Given the description of an element on the screen output the (x, y) to click on. 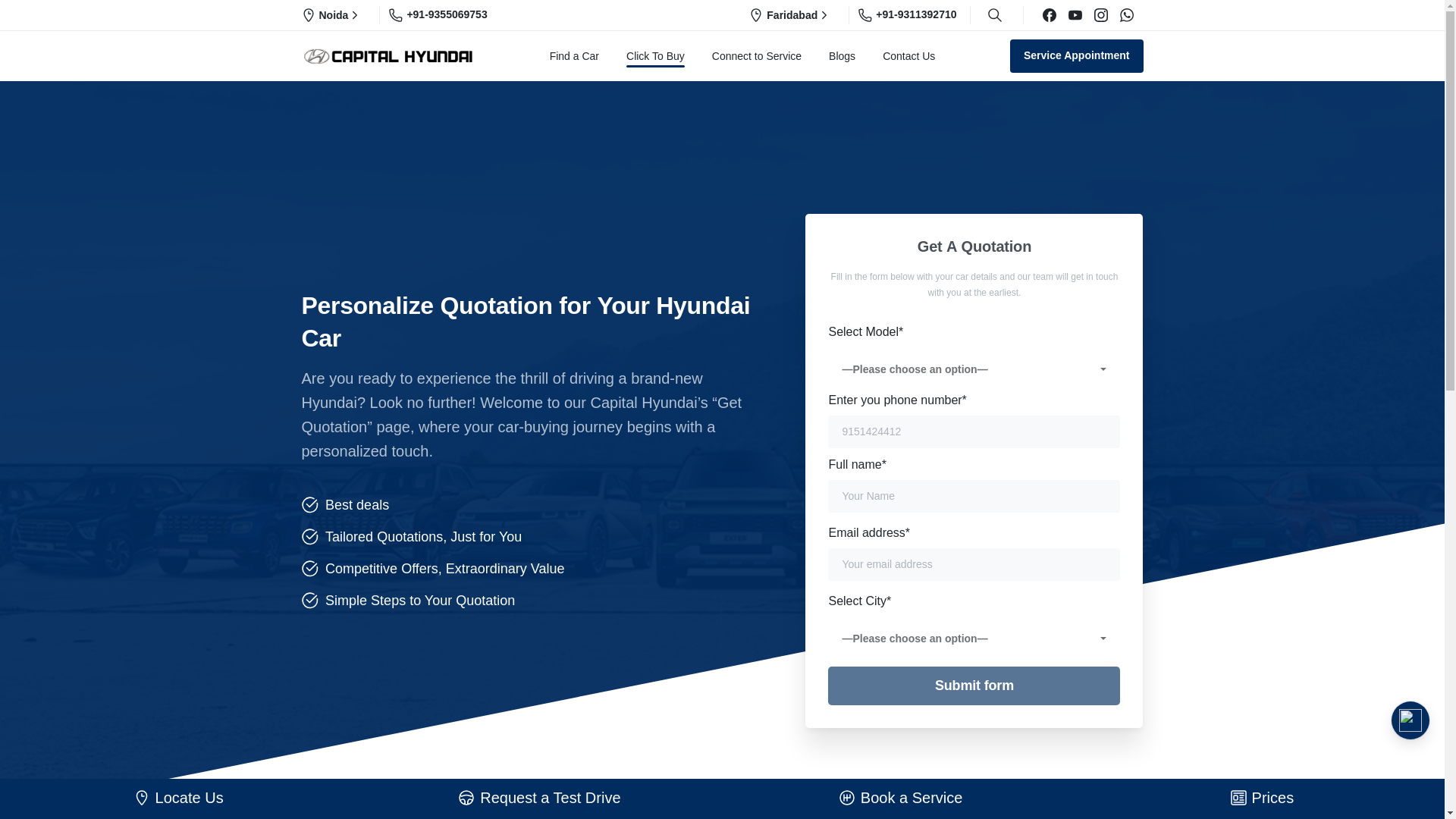
Submit form (973, 685)
Find a Car (574, 56)
WhatsApp (1125, 15)
Noida (331, 15)
Blogs (841, 56)
Facebook (1048, 15)
YouTube (1074, 15)
Faridabad (790, 15)
Contact Us (908, 56)
Connect to Service (757, 56)
Click To Buy (655, 56)
Instagram (1100, 15)
Click To Buy (655, 56)
Connect to Service (757, 56)
